Given the description of an element on the screen output the (x, y) to click on. 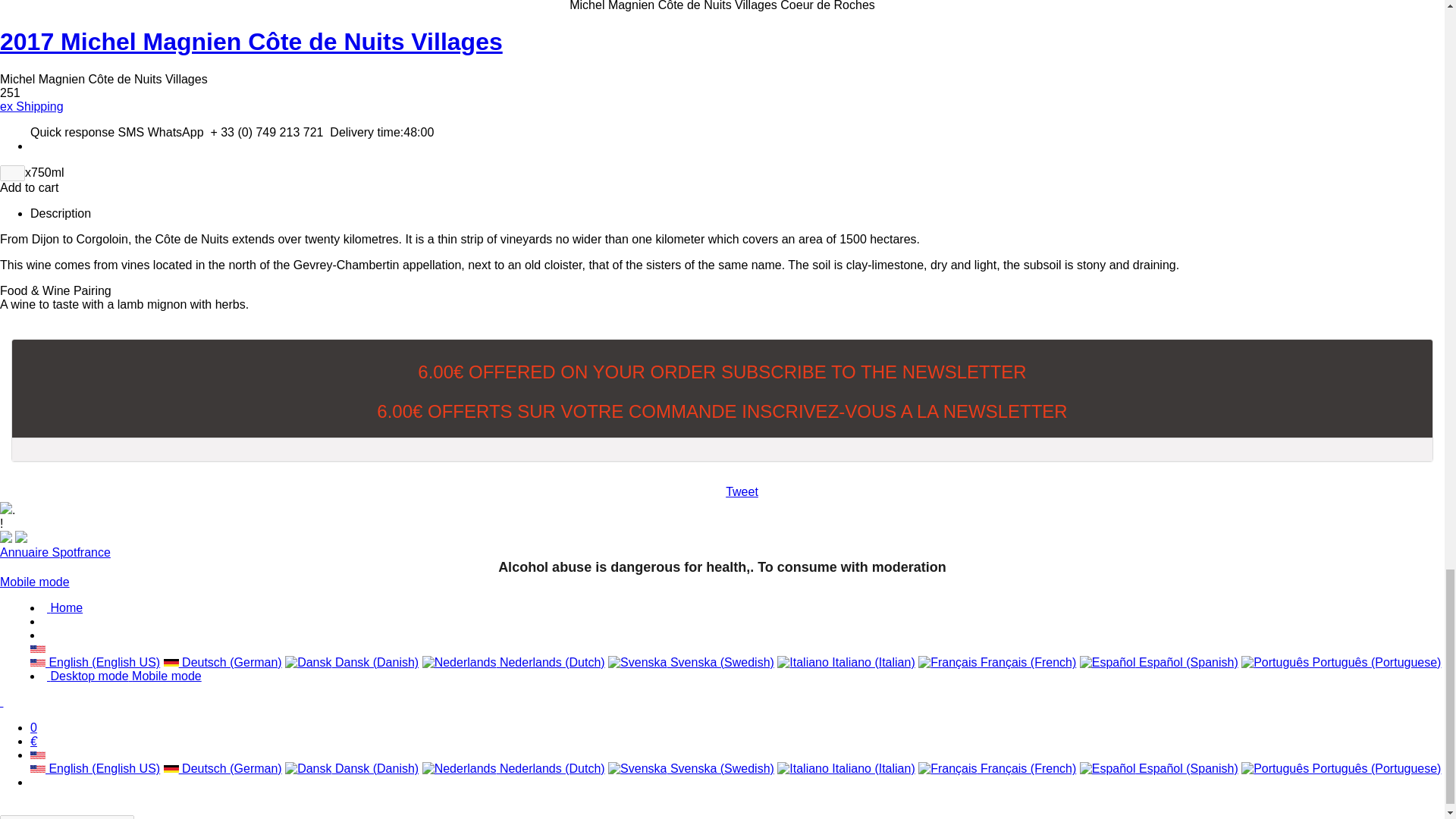
ex Shipping (32, 106)
Tweet (741, 491)
